Given the description of an element on the screen output the (x, y) to click on. 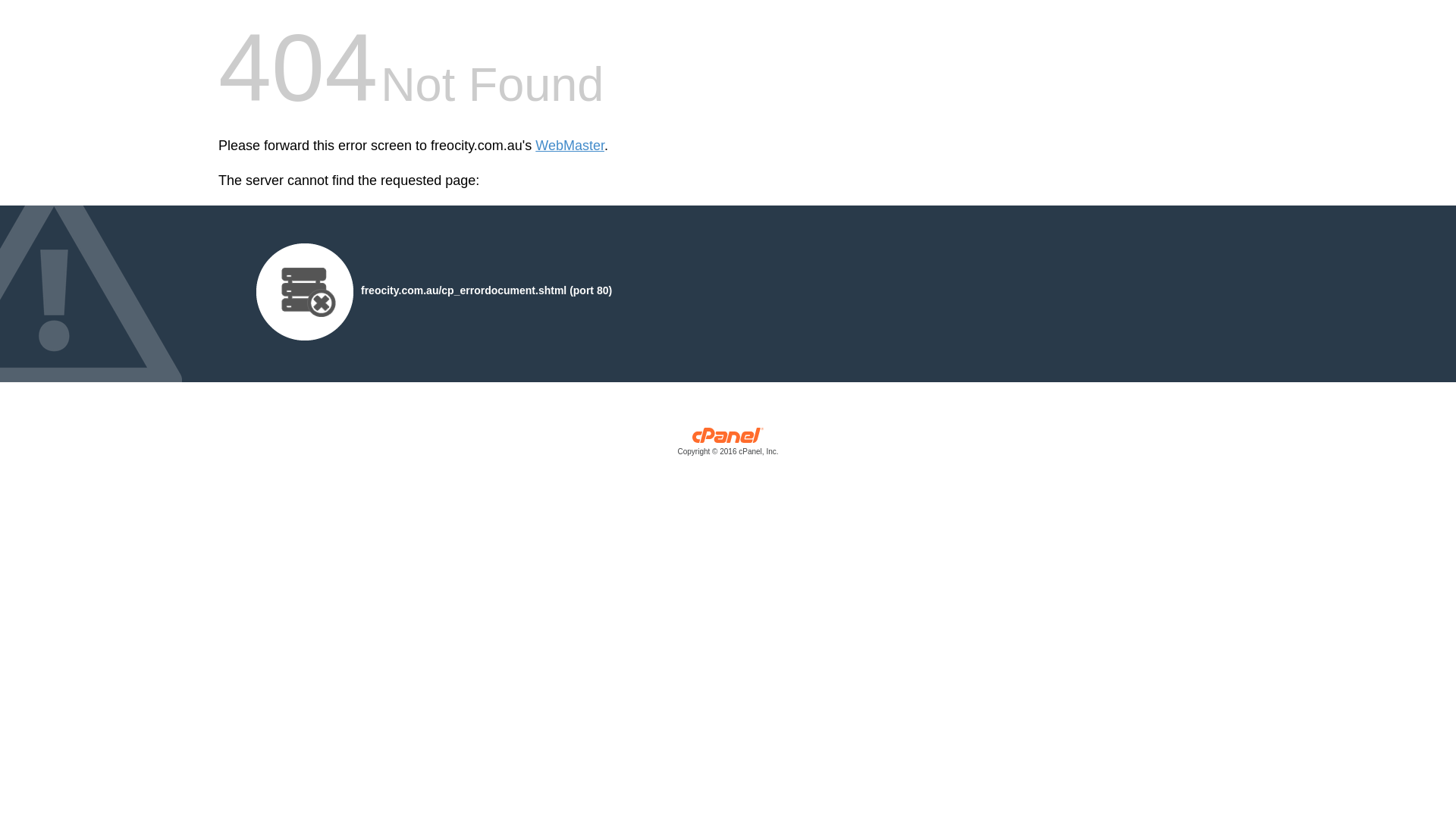
WebMaster Element type: text (569, 145)
